Given the description of an element on the screen output the (x, y) to click on. 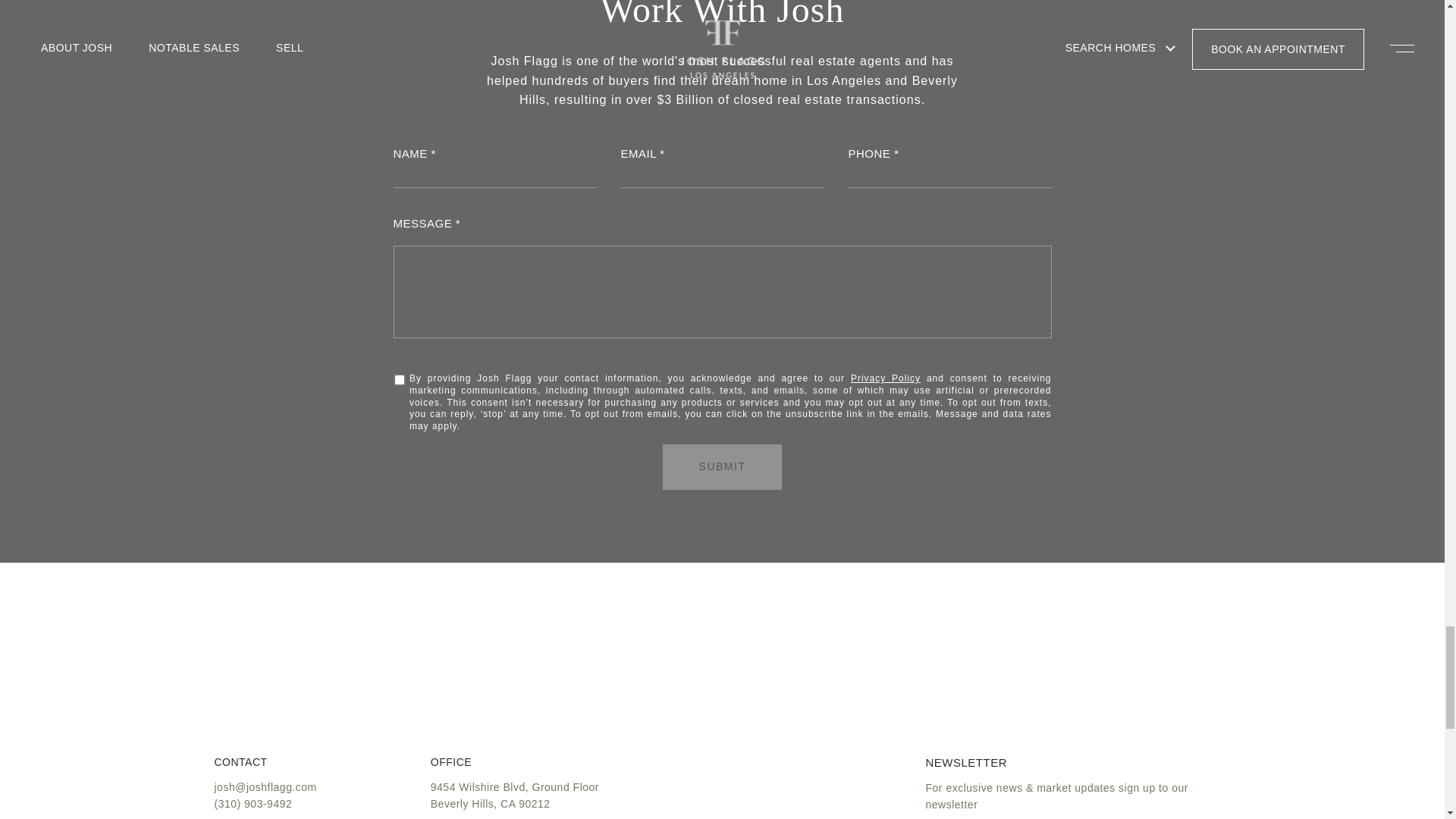
on (398, 378)
